Given the description of an element on the screen output the (x, y) to click on. 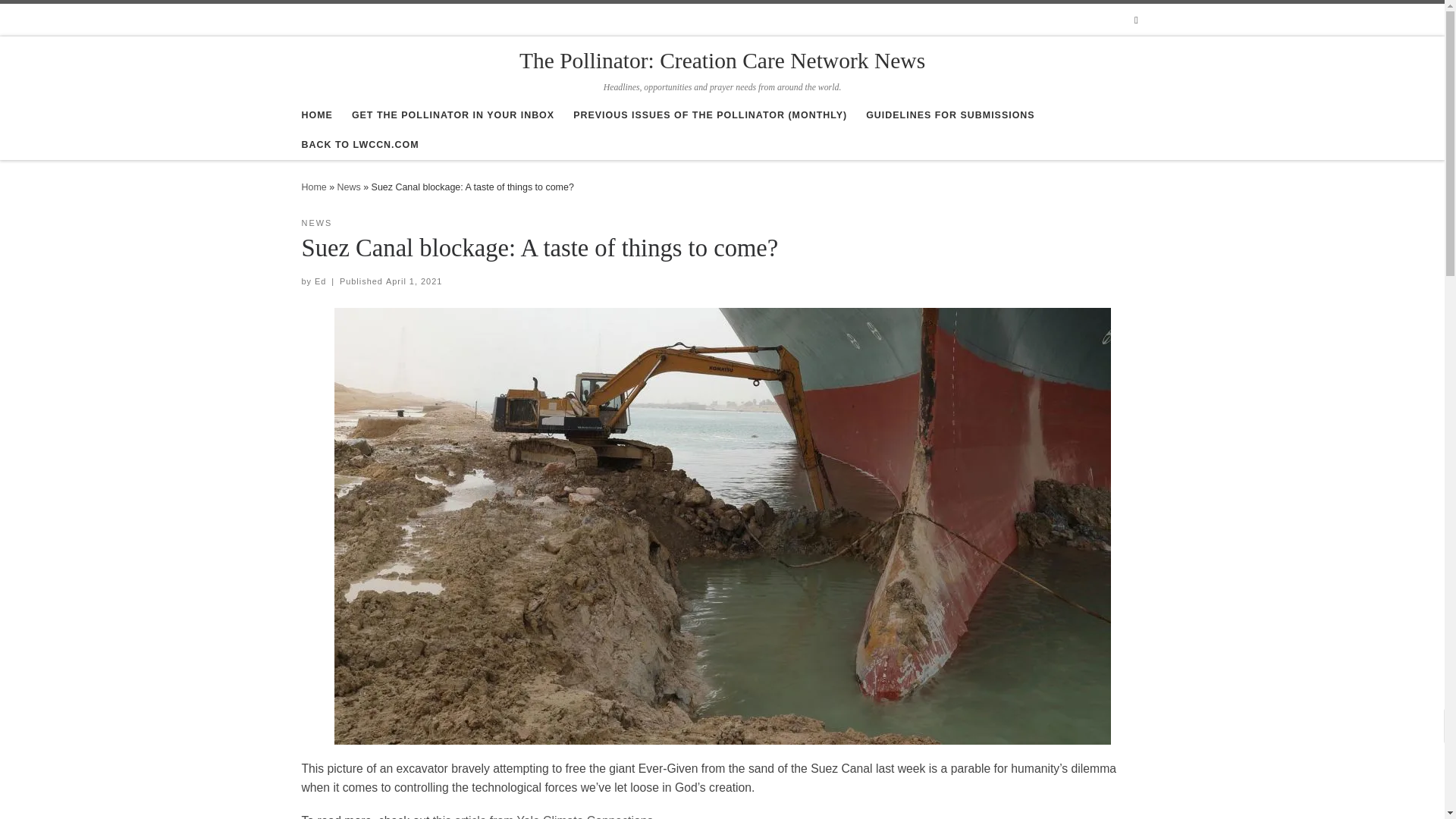
BACK TO LWCCN.COM (360, 144)
April 1, 2021 (413, 280)
NEWS (317, 223)
The Pollinator: Creation Care Network News (313, 186)
11:48 am (413, 280)
GET THE POLLINATOR IN YOUR INBOX (453, 115)
View all posts in News (317, 223)
View all posts by Ed (320, 280)
News (349, 186)
The Pollinator: Creation Care Network News (721, 60)
Home (313, 186)
Search (1136, 20)
HOME (317, 115)
this article from Yale Climate Connections (542, 816)
Skip to content (56, 19)
